Given the description of an element on the screen output the (x, y) to click on. 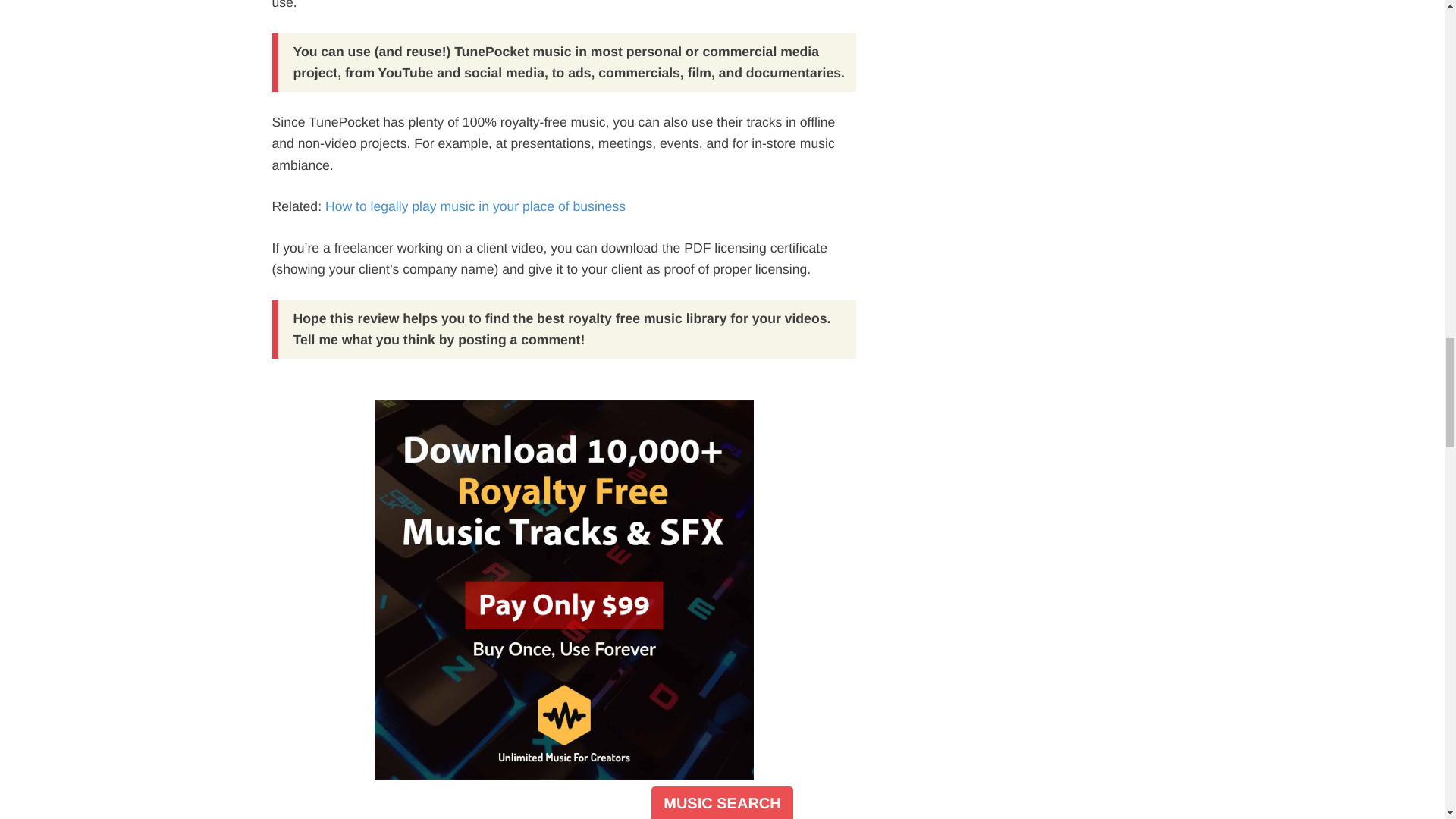
How to legally play music in your place of business (475, 206)
How to legally play music in your place of business (475, 206)
